Given the description of an element on the screen output the (x, y) to click on. 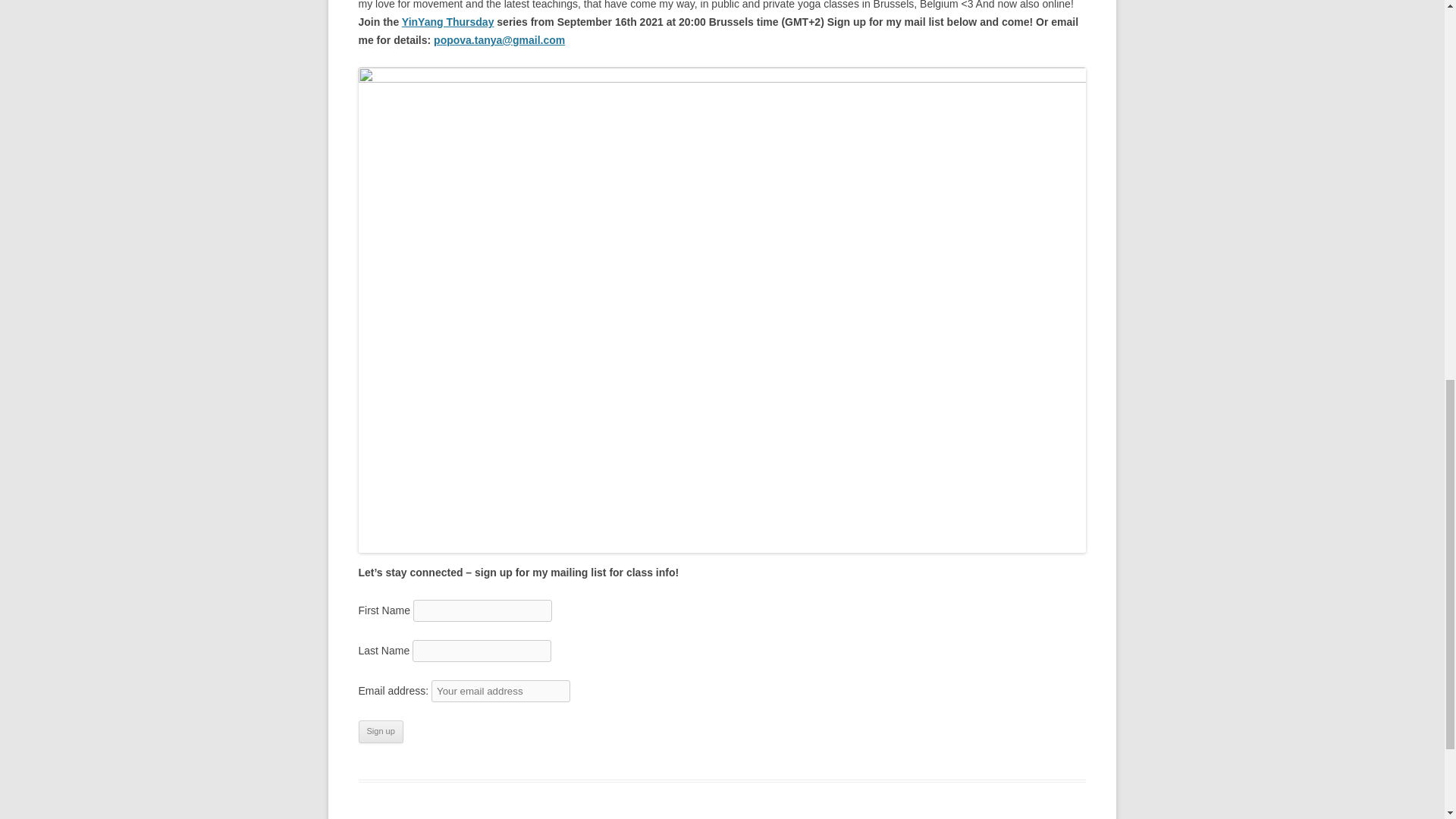
YinYang Thursday (448, 21)
Sign up (380, 731)
Sign up (380, 731)
